Given the description of an element on the screen output the (x, y) to click on. 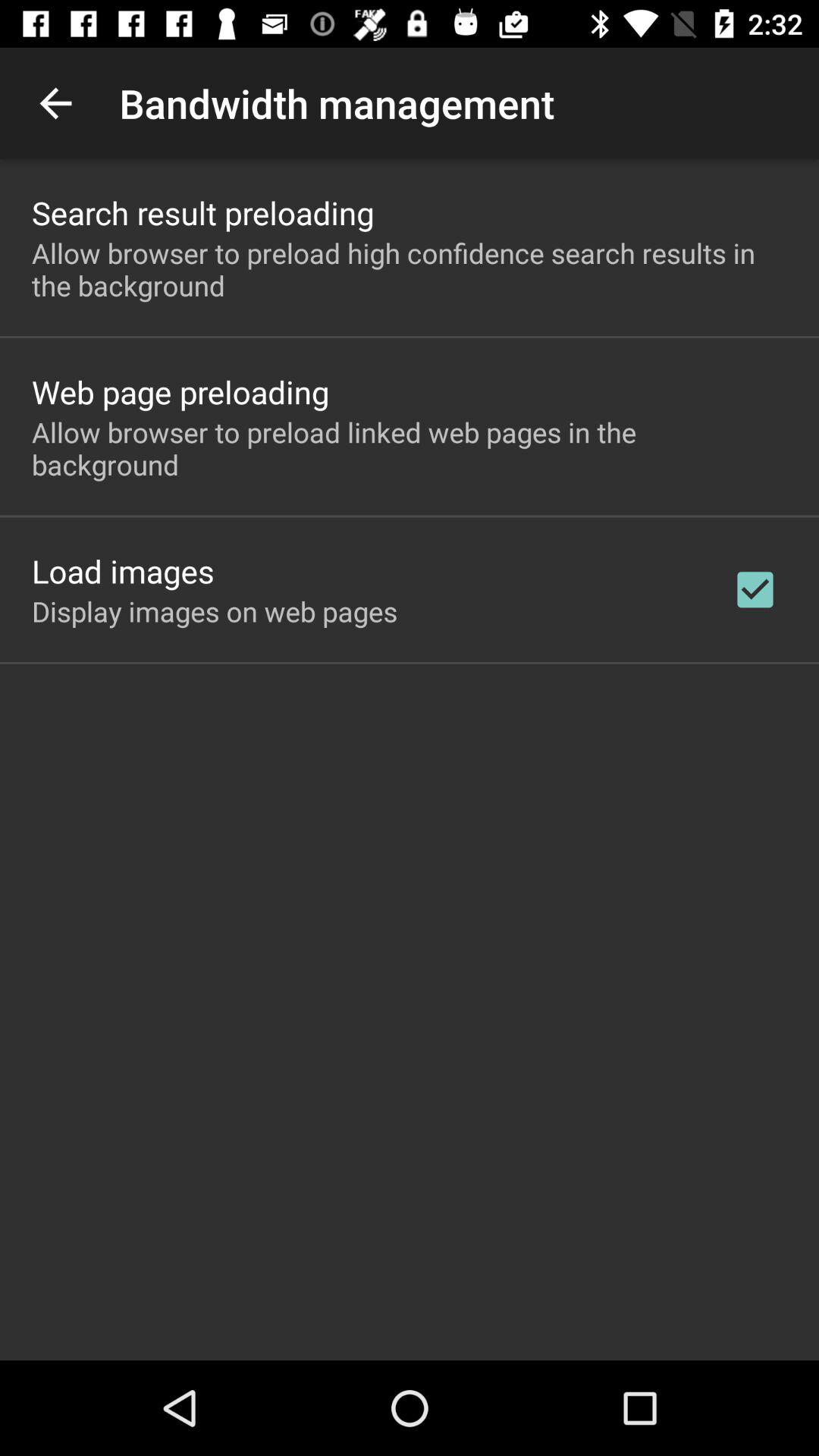
select the app below the allow browser to (180, 391)
